Given the description of an element on the screen output the (x, y) to click on. 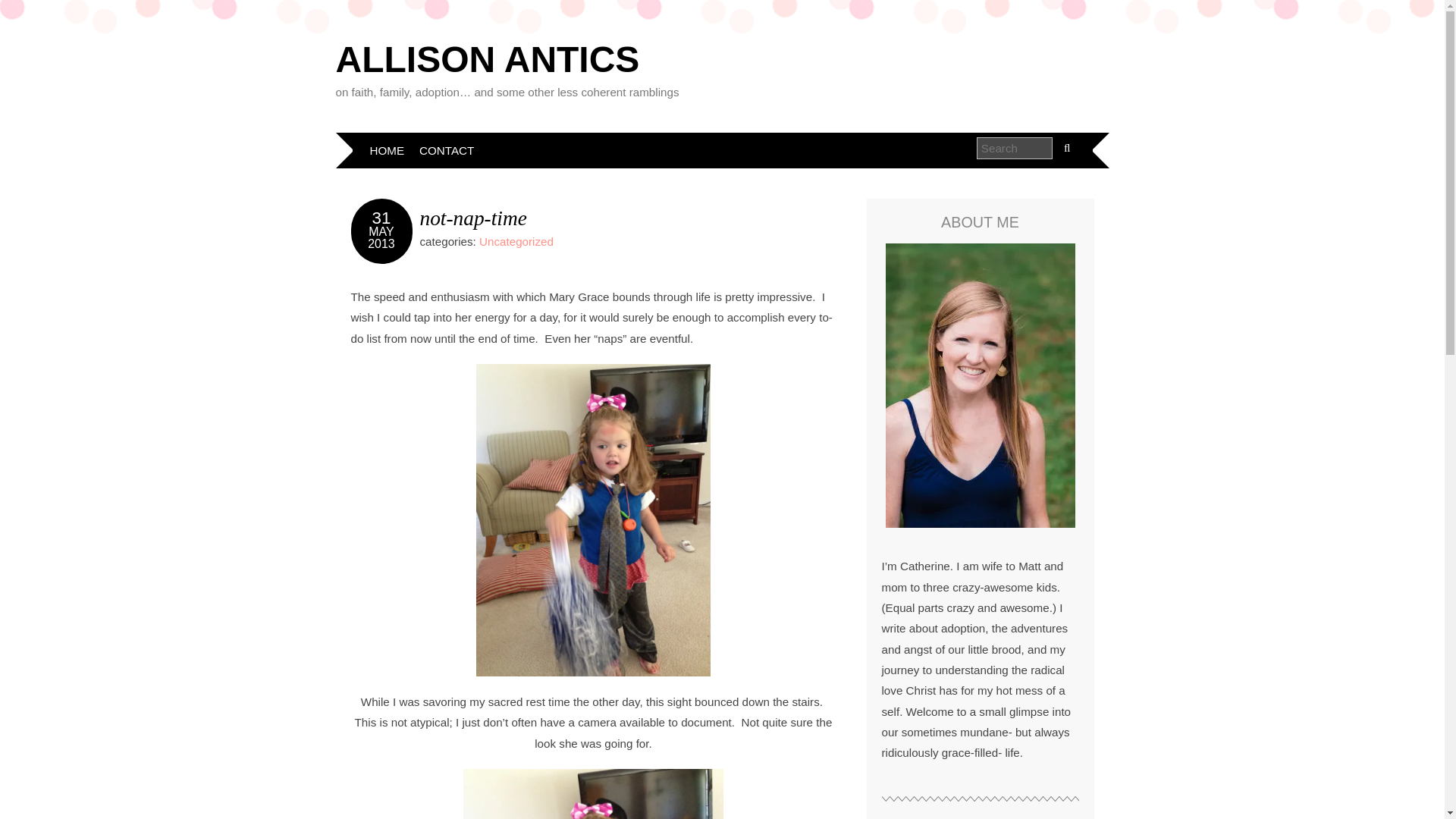
31 (381, 217)
ALLISON ANTICS (486, 59)
HOME (387, 150)
CONTACT (446, 150)
not-nap-time (473, 218)
Uncategorized (516, 241)
